Given the description of an element on the screen output the (x, y) to click on. 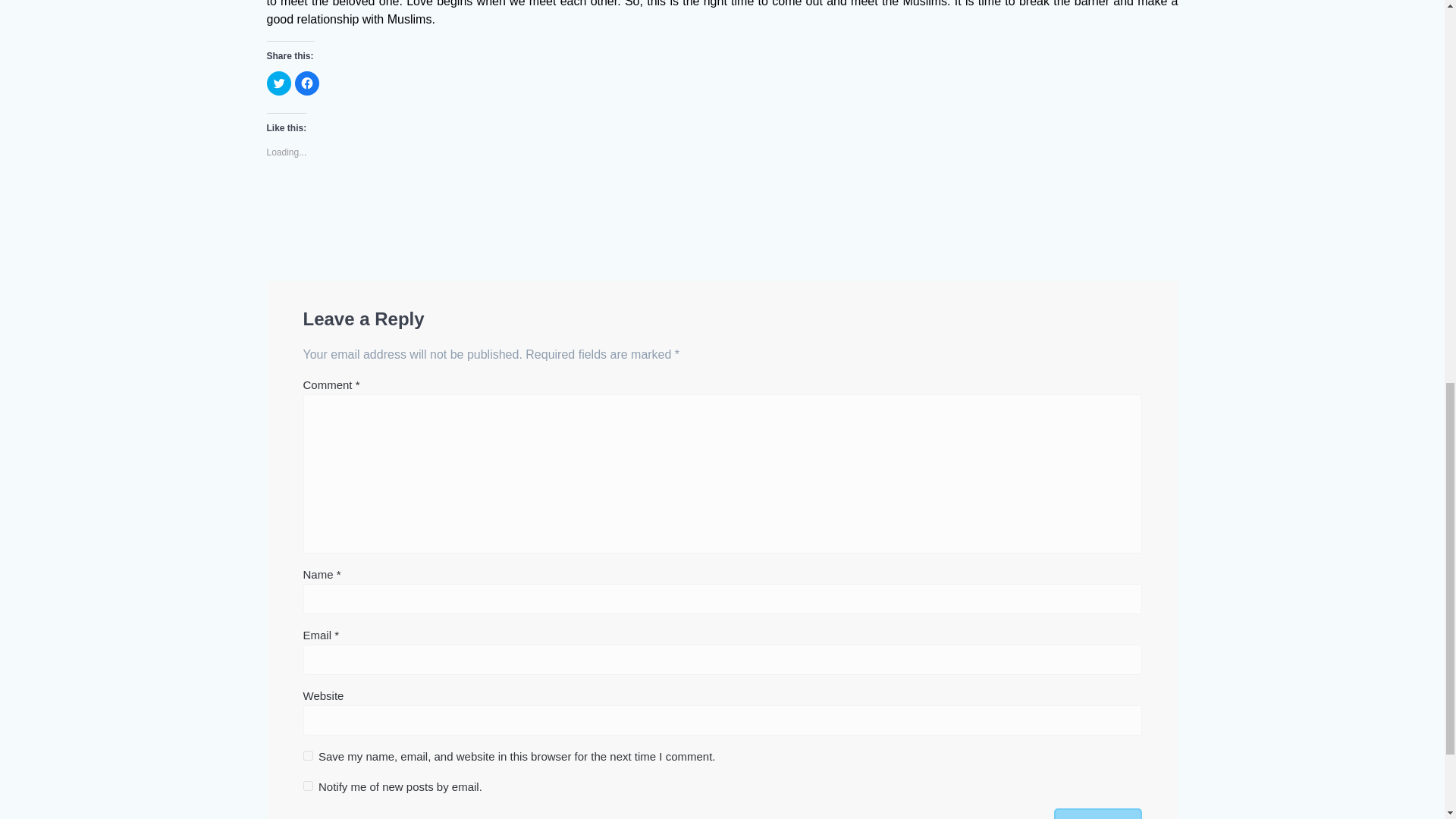
yes (307, 755)
subscribe (307, 786)
Post Comment (1097, 813)
Click to share on Twitter (278, 83)
Click to share on Facebook (306, 83)
Post Comment (1097, 813)
